Given the description of an element on the screen output the (x, y) to click on. 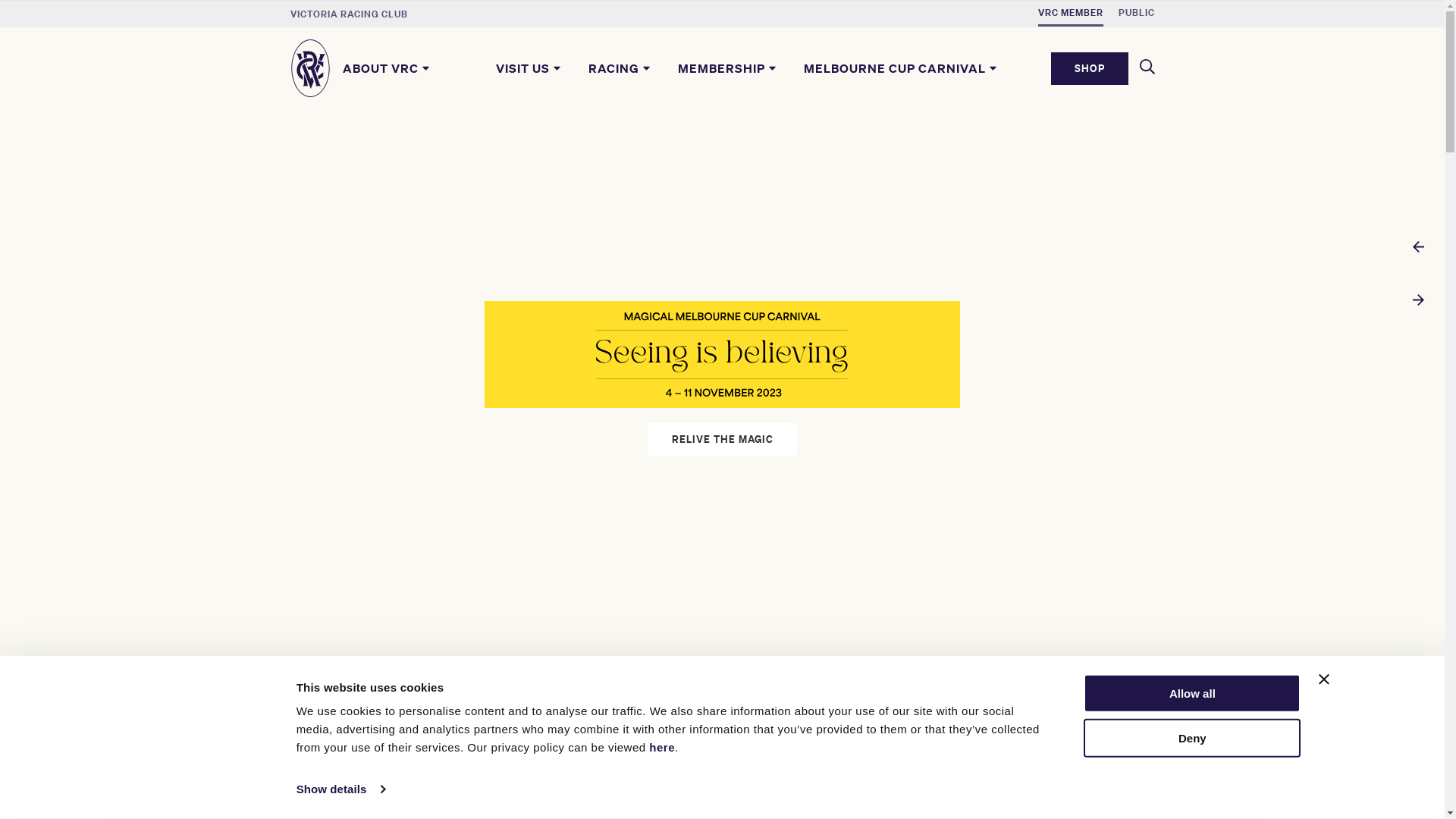
Show details Element type: text (340, 789)
MEMBERSHIP Element type: text (728, 68)
VICTORIA RACING CLUB Element type: text (348, 13)
here Element type: text (661, 746)
VIEW FULL CALENDAR Element type: text (1090, 732)
Allow all Element type: text (1191, 693)
SHOP Element type: text (1089, 67)
VISIT US Element type: text (529, 68)
MELBOURNE CUP CARNIVAL Element type: text (901, 68)
PUBLIC Element type: text (1135, 13)
RELIVE THE MAGIC Element type: text (721, 439)
Deny Element type: text (1191, 737)
VRC MEMBER Element type: text (1069, 13)
ABOUT VRC Element type: text (387, 68)
RACING Element type: text (620, 68)
